Given the description of an element on the screen output the (x, y) to click on. 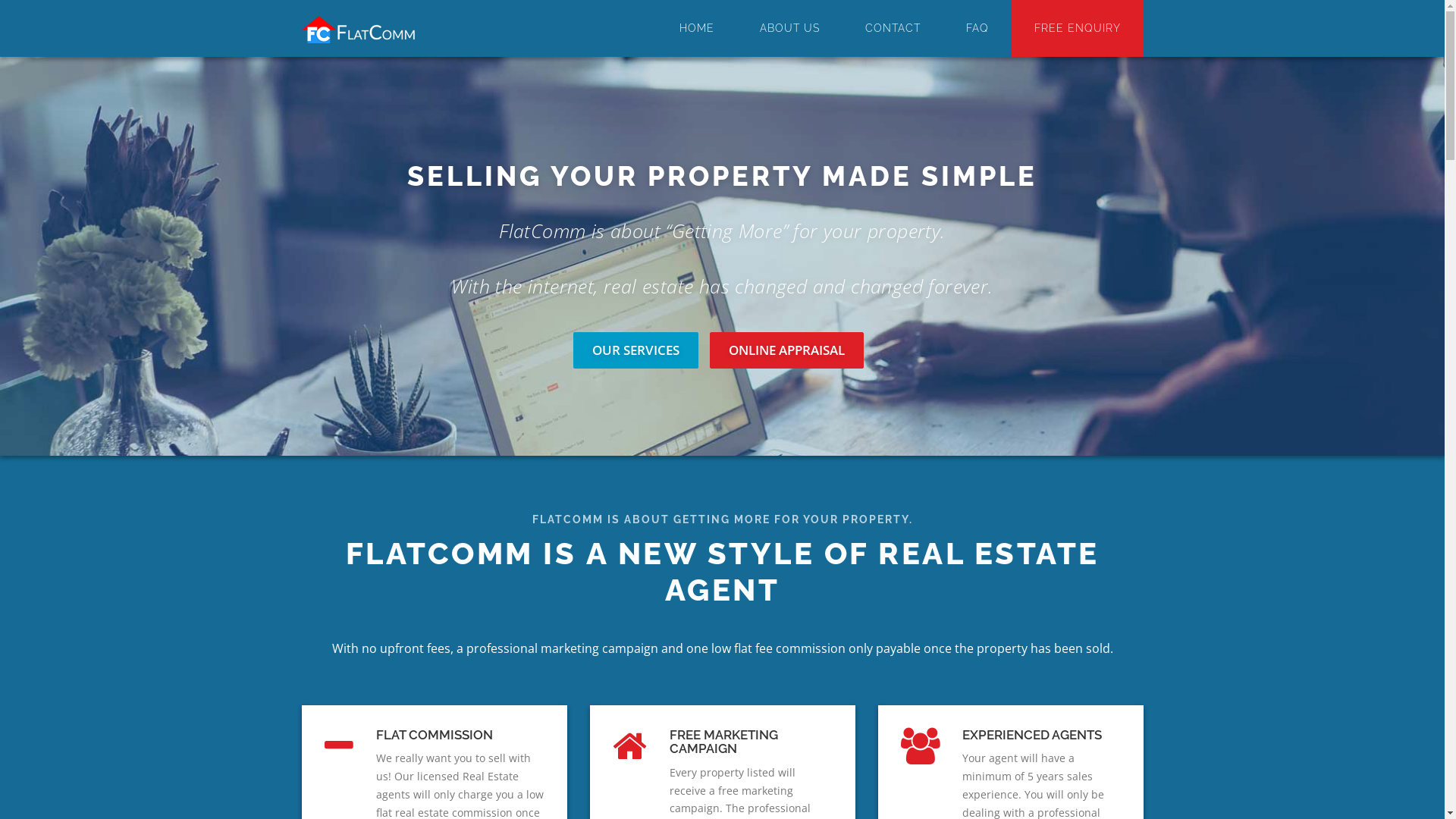
HOME Element type: text (696, 28)
ABOUT US Element type: text (789, 28)
FREE ENQUIRY Element type: text (1077, 28)
OUR SERVICES Element type: text (635, 349)
ONLINE APPRAISAL Element type: text (786, 349)
FAQ Element type: text (977, 28)
CONTACT Element type: text (891, 28)
